Given the description of an element on the screen output the (x, y) to click on. 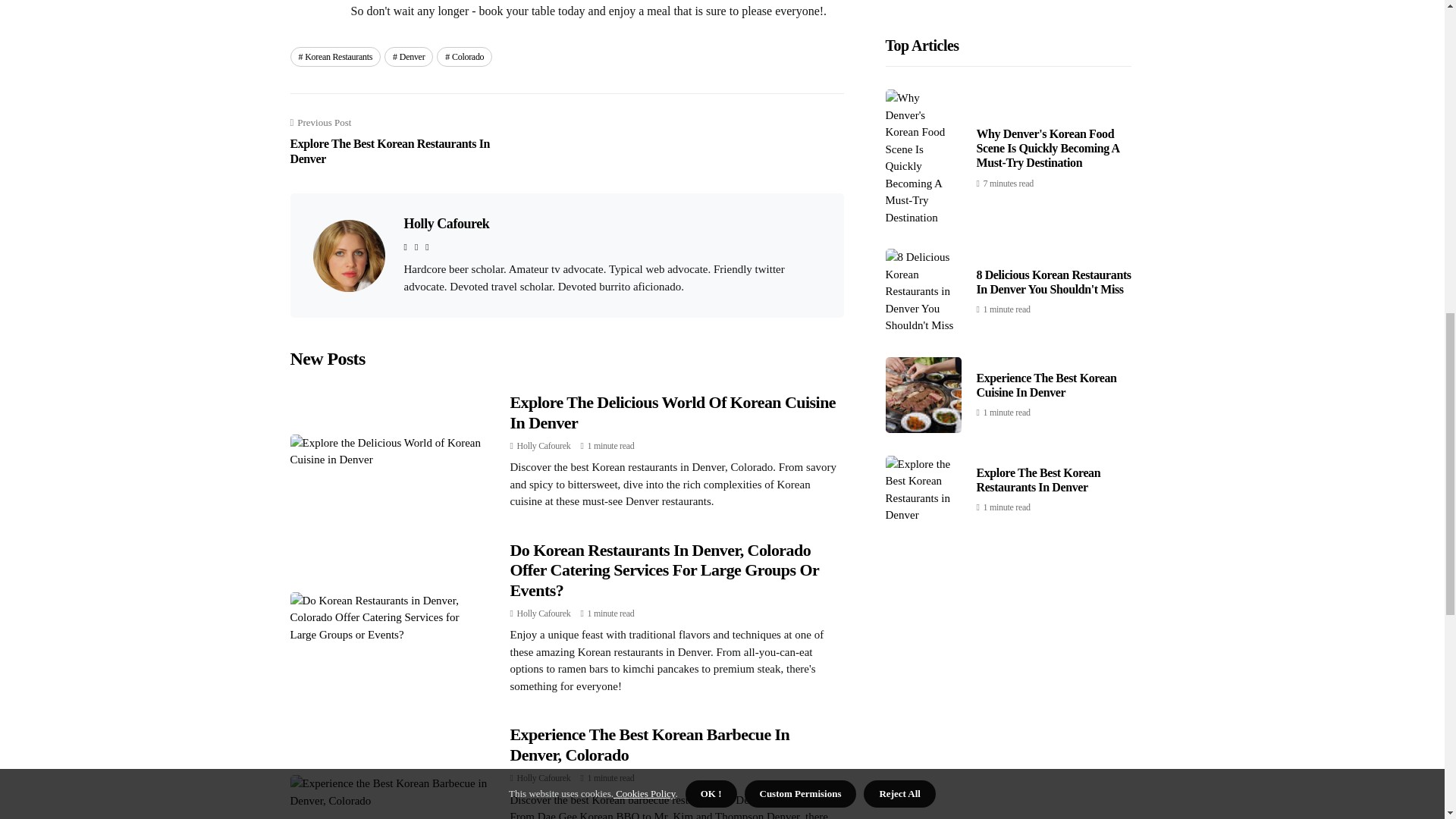
Explore The Delicious World Of Korean Cuisine In Denver (672, 412)
Korean Restaurants (334, 56)
Holly Cafourek (543, 613)
Posts by Holly Cafourek (543, 613)
Posts by Holly Cafourek (543, 445)
Experience The Best Korean Cuisine In Denver (1046, 94)
Holly Cafourek (446, 223)
Posts by Holly Cafourek (543, 777)
8 Delicious Korean Restaurants In Denver You Shouldn'T Miss (400, 142)
